Given the description of an element on the screen output the (x, y) to click on. 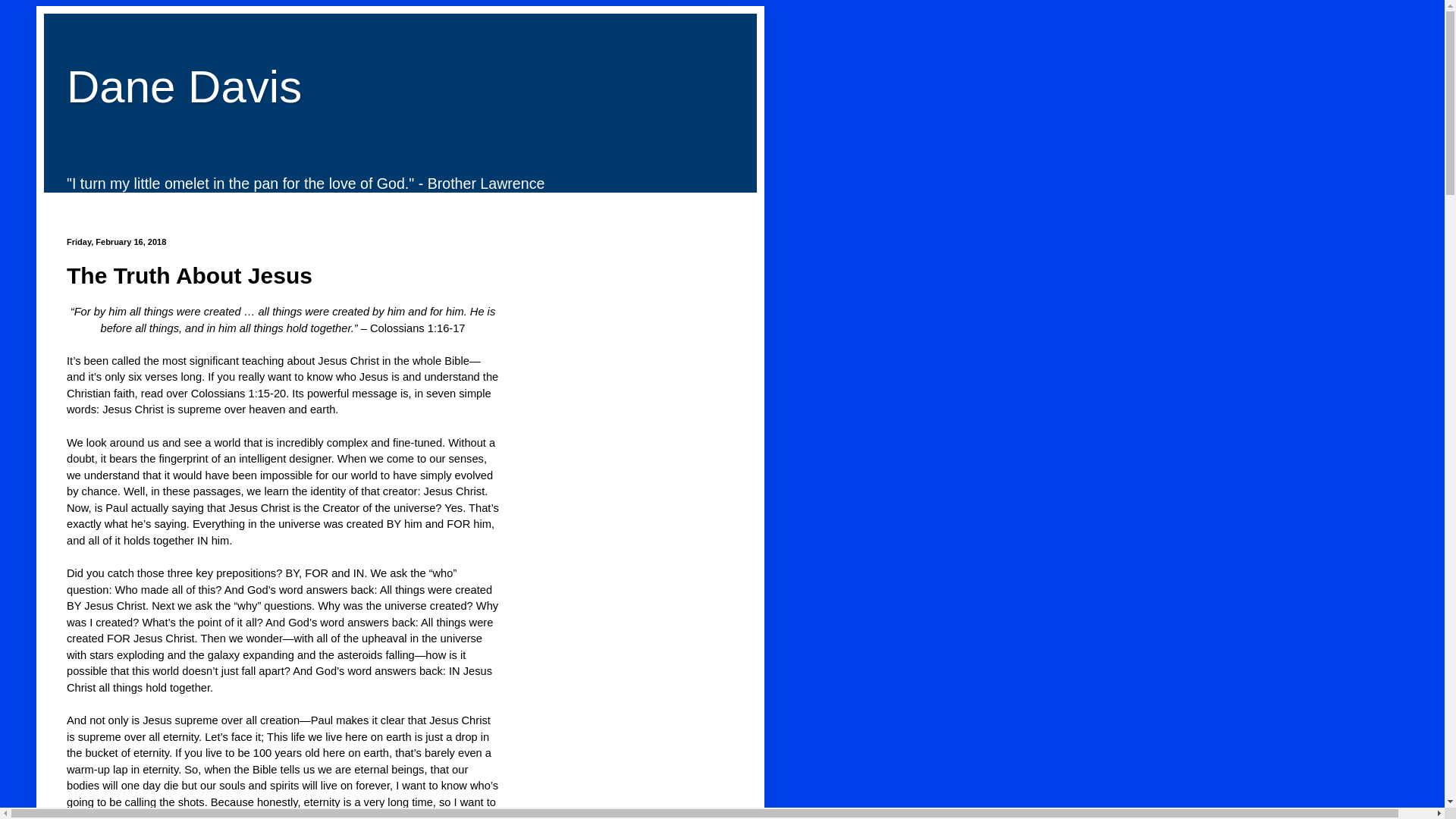
Dane Davis Element type: text (183, 86)
